Given the description of an element on the screen output the (x, y) to click on. 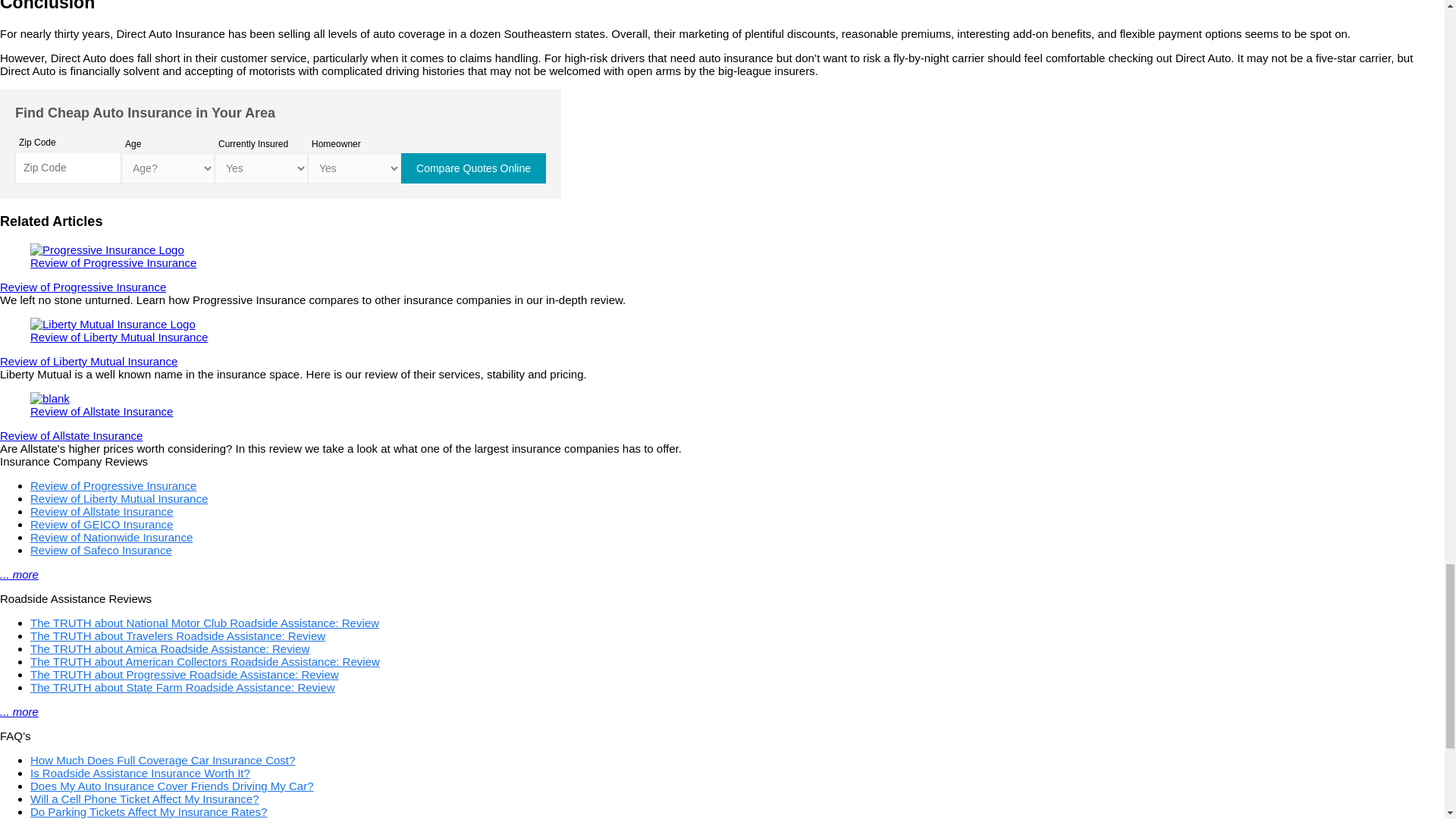
... more (19, 711)
... more (19, 574)
Review of Allstate Insurance (721, 404)
Compare Quotes Online (473, 168)
Review of Liberty Mutual Insurance (721, 330)
Review of Liberty Mutual Insurance (88, 360)
Review of Allstate Insurance (721, 404)
Review of Progressive Insurance (721, 256)
Review of Progressive Insurance (82, 286)
Review of Allstate Insurance (71, 435)
